Given the description of an element on the screen output the (x, y) to click on. 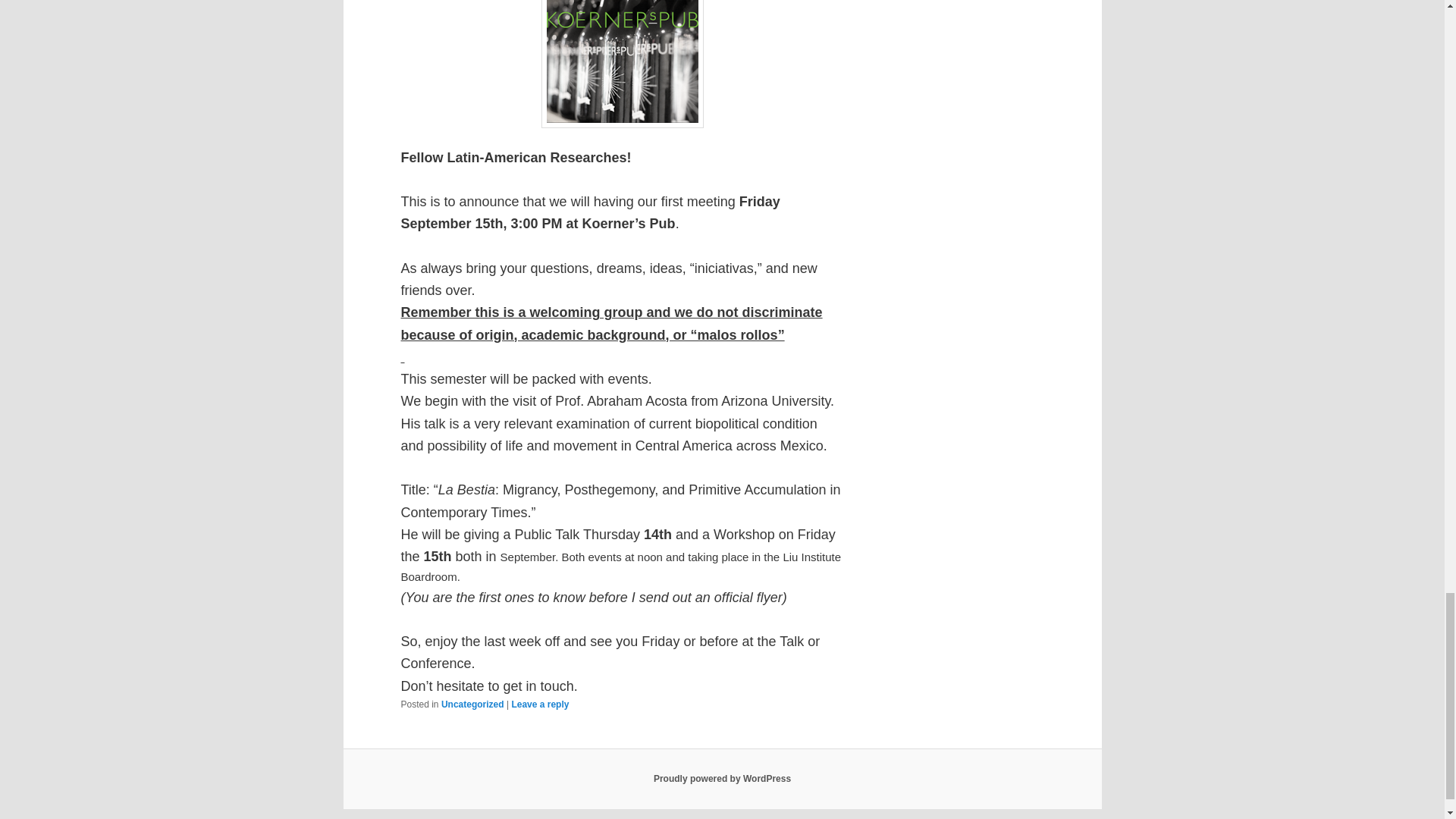
Uncategorized (472, 704)
Semantic Personal Publishing Platform (721, 778)
Leave a reply (540, 704)
